Given the description of an element on the screen output the (x, y) to click on. 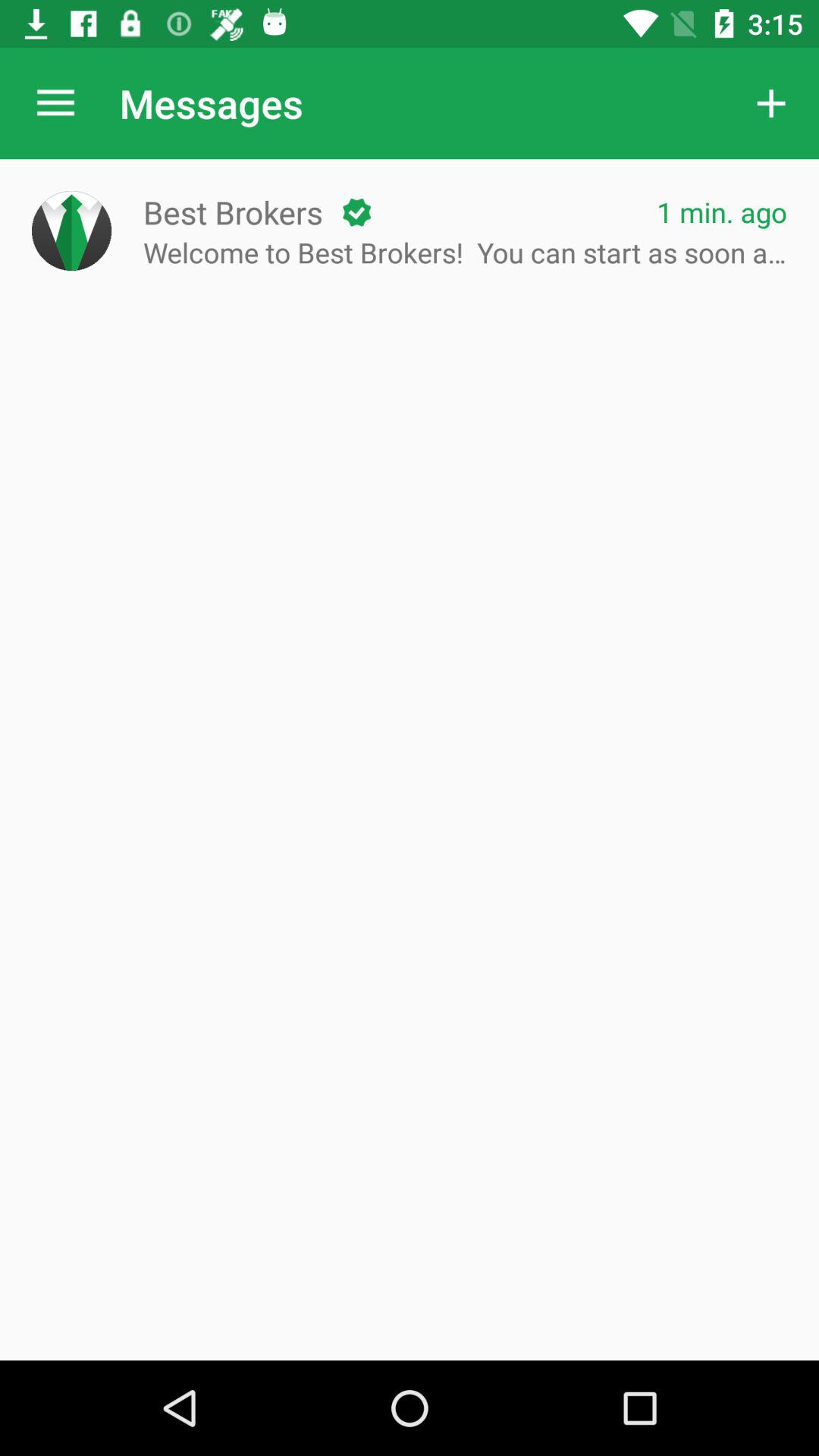
tap the app to the left of the messages item (55, 103)
